Given the description of an element on the screen output the (x, y) to click on. 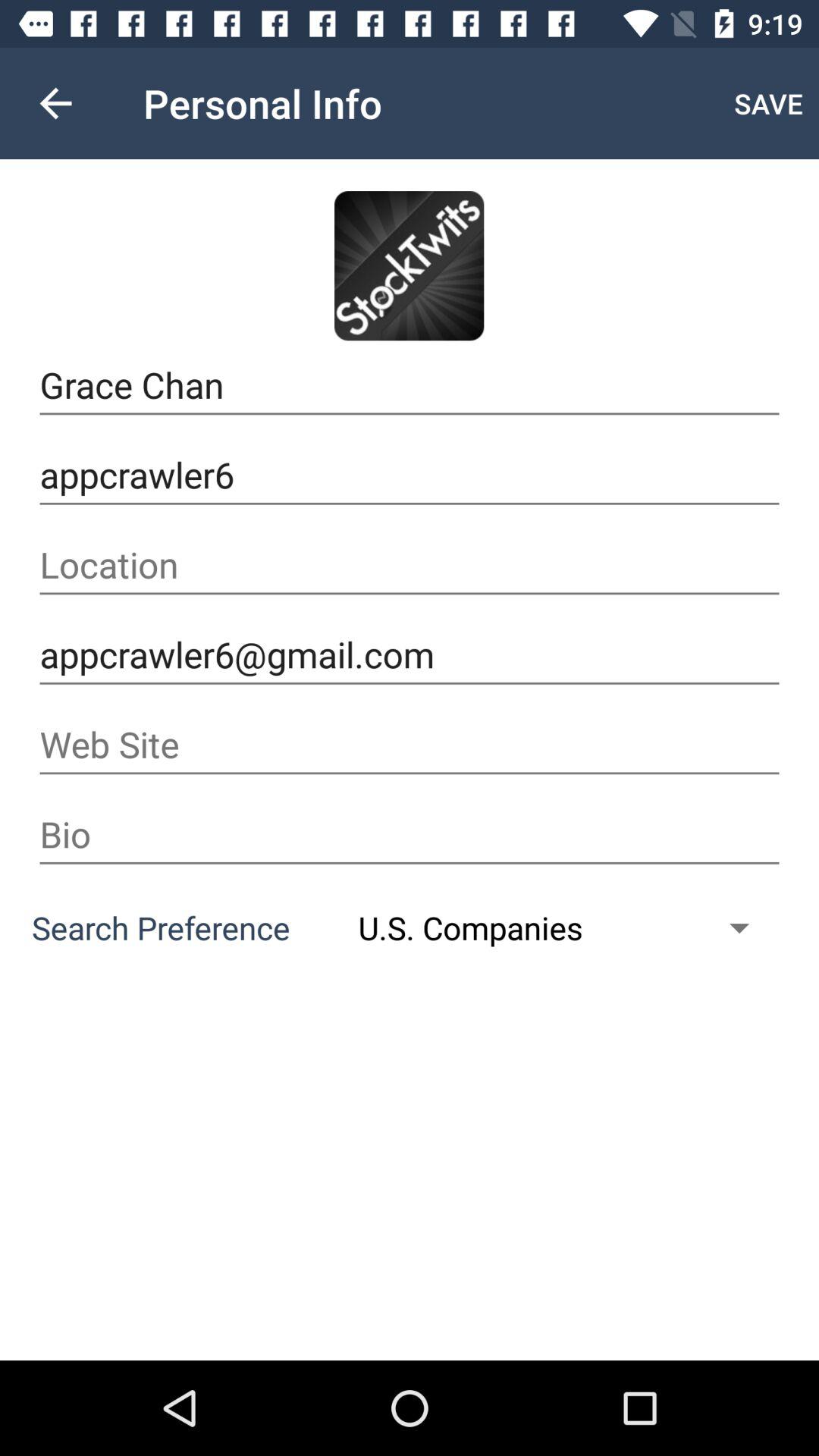
open item below personal info (409, 265)
